Given the description of an element on the screen output the (x, y) to click on. 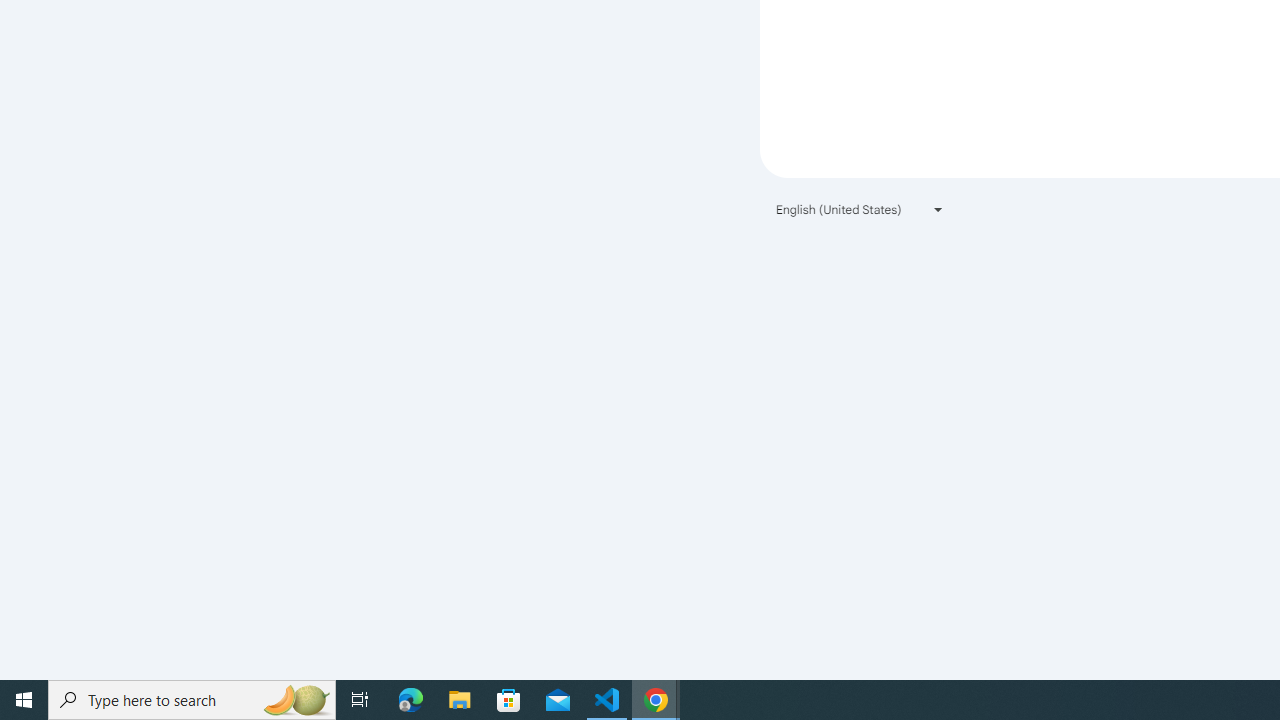
English (United States) (860, 209)
